Given the description of an element on the screen output the (x, y) to click on. 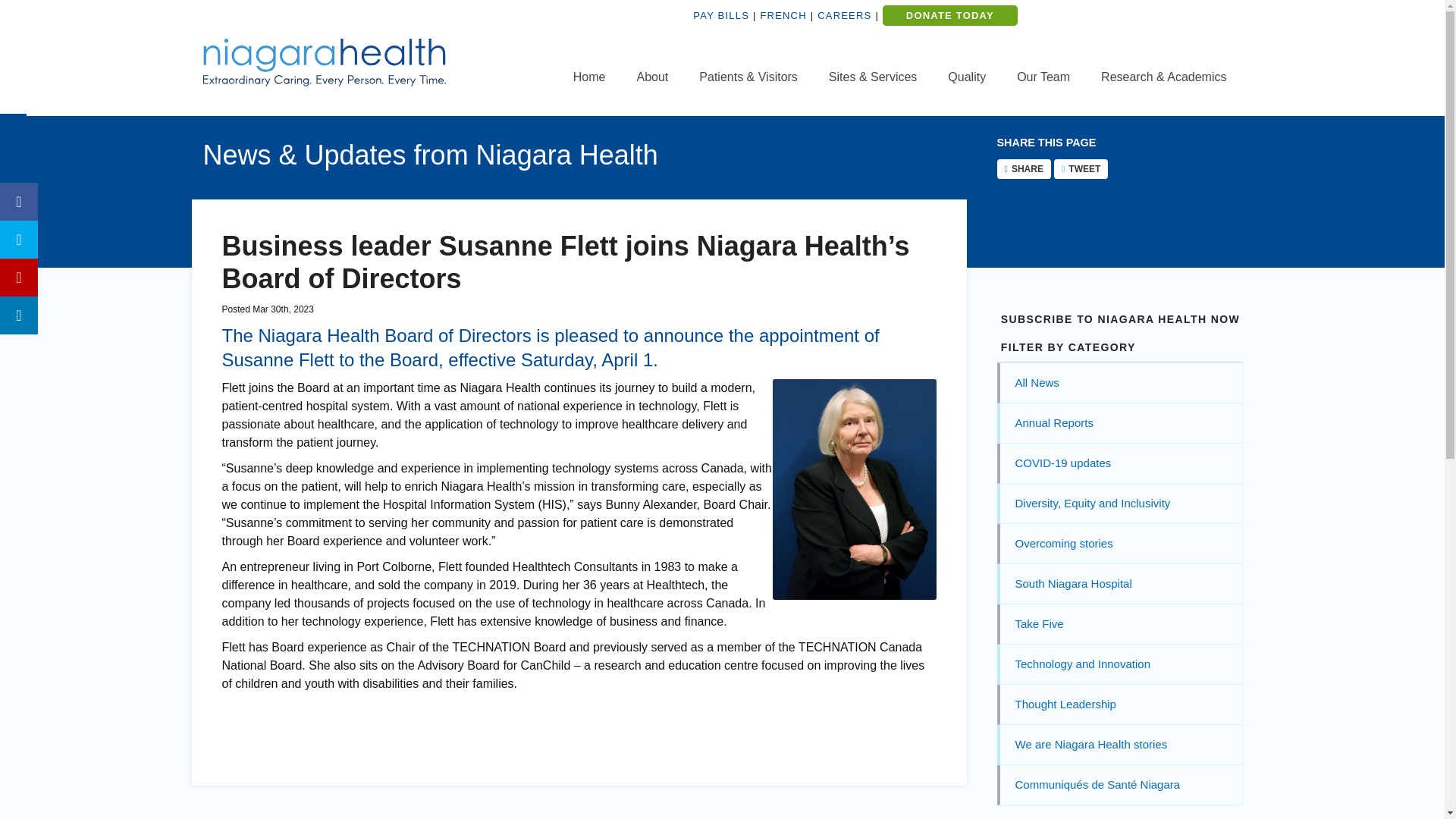
Home (589, 77)
About (652, 77)
Pay Bills (721, 15)
Careers at Niagara Health (843, 15)
CAREERS (843, 15)
back to home (589, 77)
Donate today - Support Niagara Health Foundation (949, 14)
PAY BILLS (721, 15)
About Niagara Health System (652, 77)
French Translation at Niagara Health (783, 15)
DONATE TODAY (949, 14)
FRENCH (783, 15)
CONTACT (1179, 26)
